Given the description of an element on the screen output the (x, y) to click on. 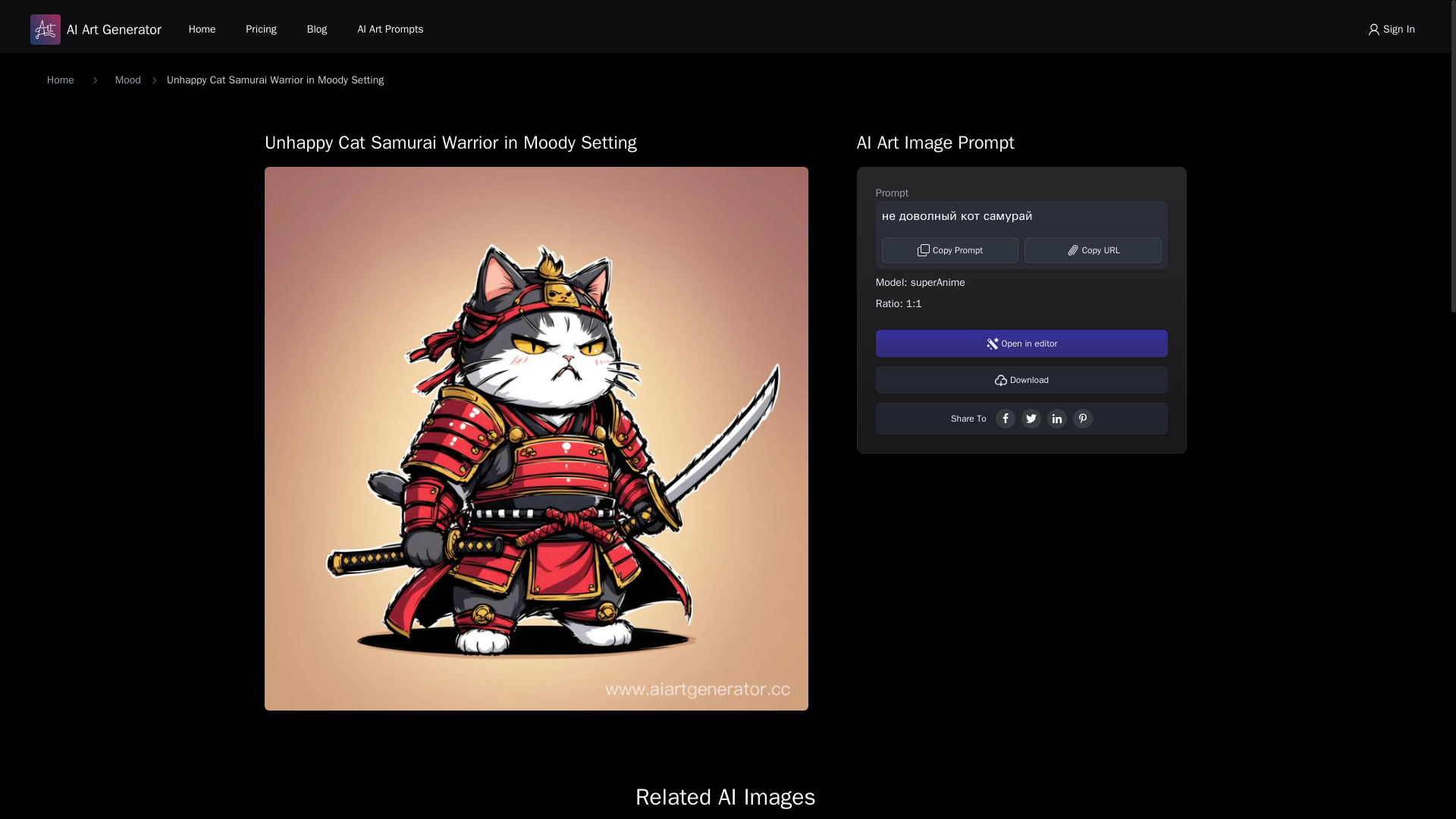
Sign In (1391, 29)
Copy URL (1093, 249)
Pricing (261, 29)
AI Art Generator (95, 29)
Blog (317, 29)
Home (60, 79)
Copy Prompt (950, 249)
AI Art Prompts (389, 29)
Mood (128, 79)
Home (202, 29)
